Given the description of an element on the screen output the (x, y) to click on. 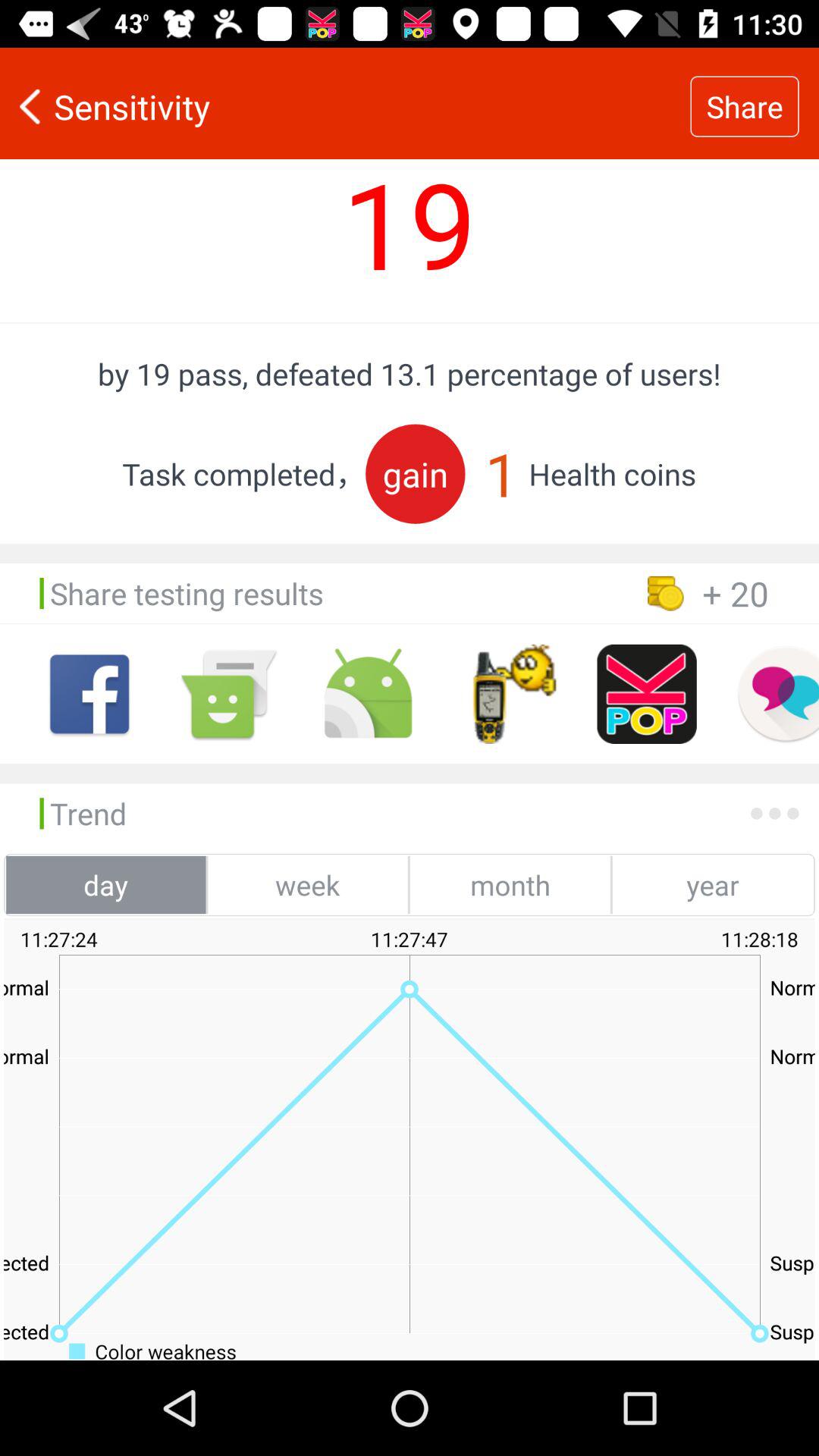
press icon next to the share item (345, 106)
